Given the description of an element on the screen output the (x, y) to click on. 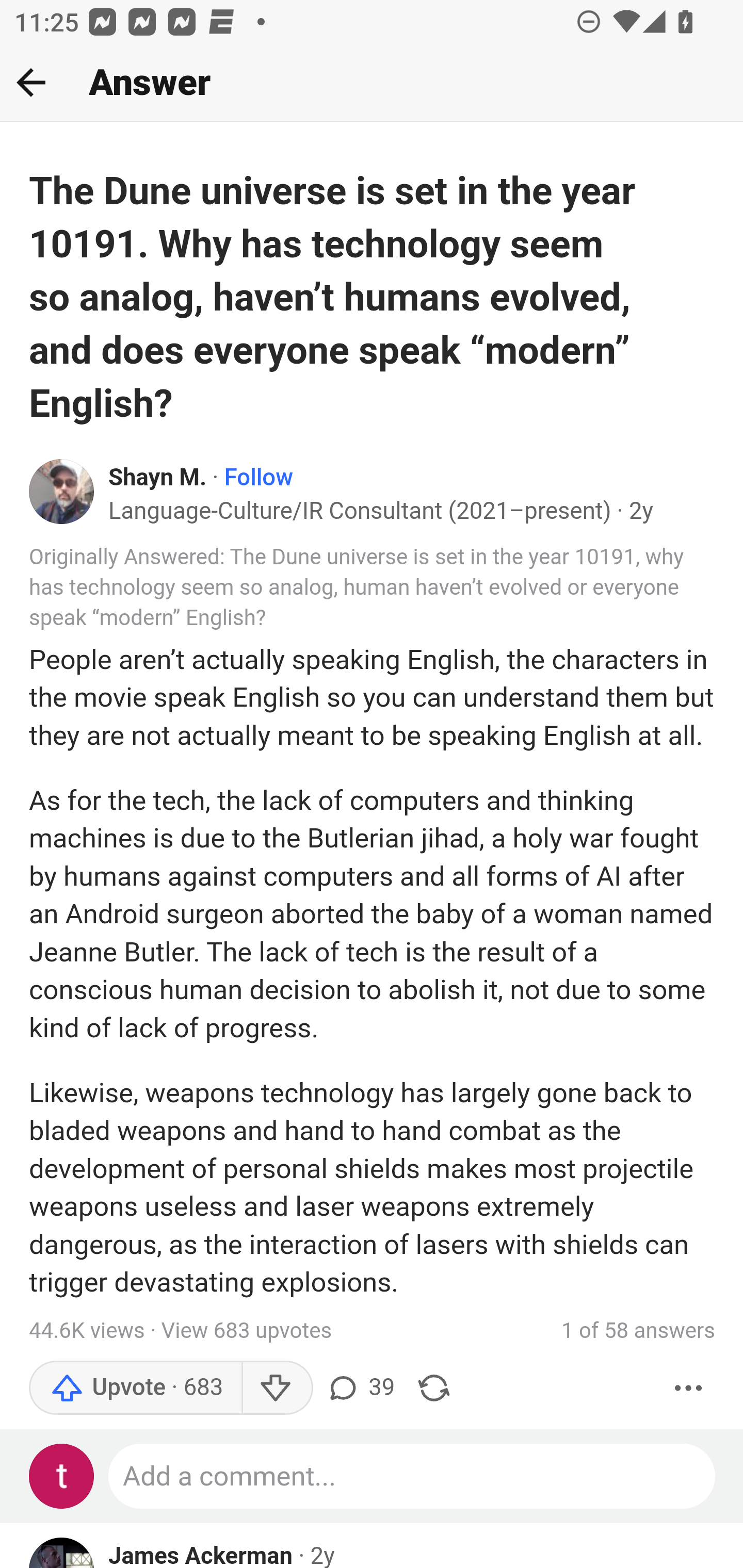
Back (30, 82)
Profile photo for Shayn M. (61, 491)
Shayn M. (157, 477)
Follow (258, 477)
View 683 upvotes (246, 1329)
1 of 58 answers (637, 1330)
Upvote (135, 1387)
Downvote (277, 1387)
39 comments (360, 1387)
Share (434, 1387)
More (688, 1387)
Profile photo for Test Appium (61, 1475)
Add a comment... (412, 1475)
James Ackerman (201, 1553)
